Given the description of an element on the screen output the (x, y) to click on. 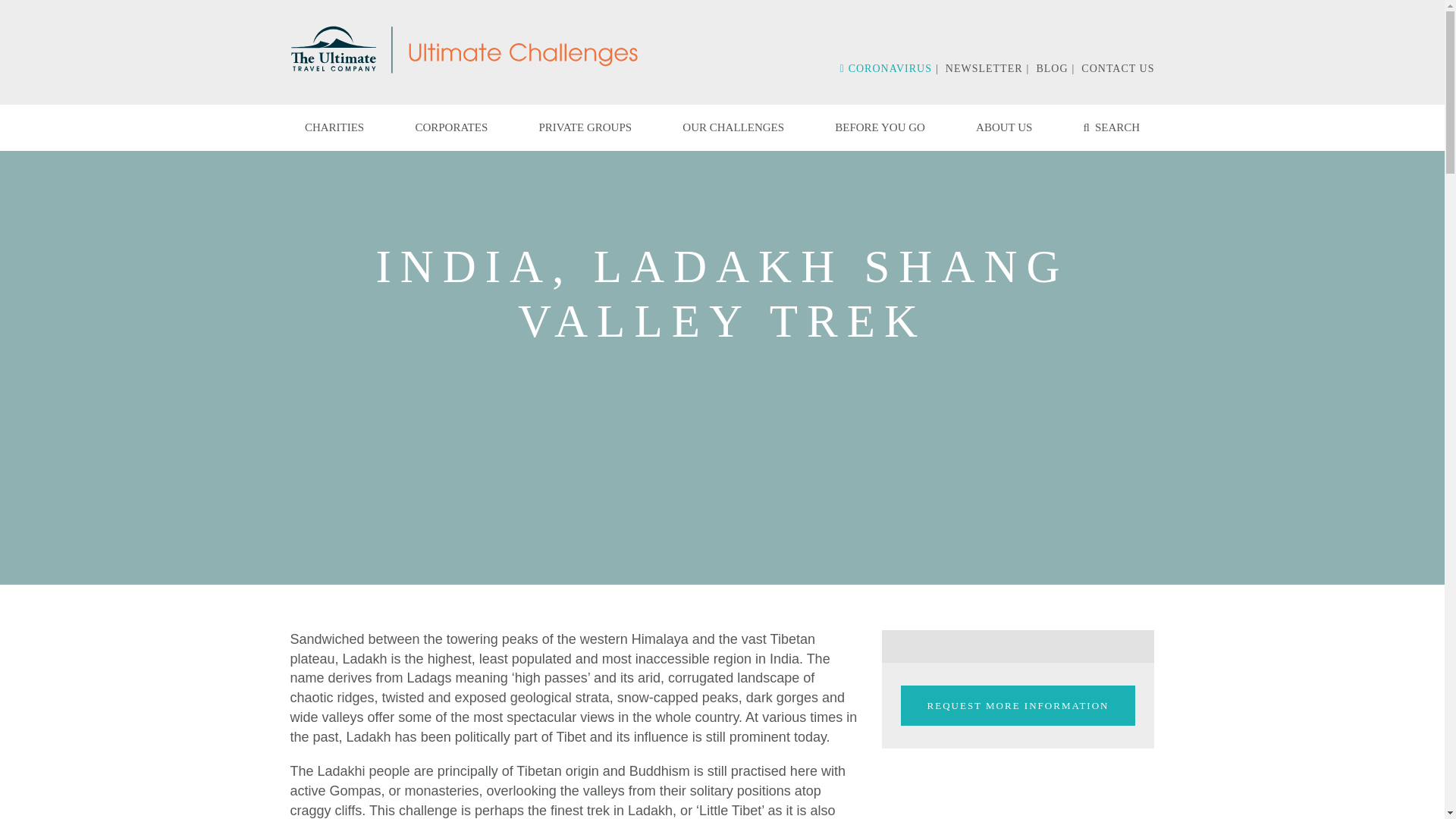
CONTACT US (1117, 68)
BLOG (1051, 68)
CORONAVIRUS (885, 68)
ABOUT US (1003, 127)
SEARCH (1111, 127)
PRIVATE GROUPS (584, 127)
BEFORE YOU GO (879, 127)
CHARITIES (334, 127)
NEWSLETTER (983, 68)
OUR CHALLENGES (733, 127)
CORPORATES (450, 127)
